Given the description of an element on the screen output the (x, y) to click on. 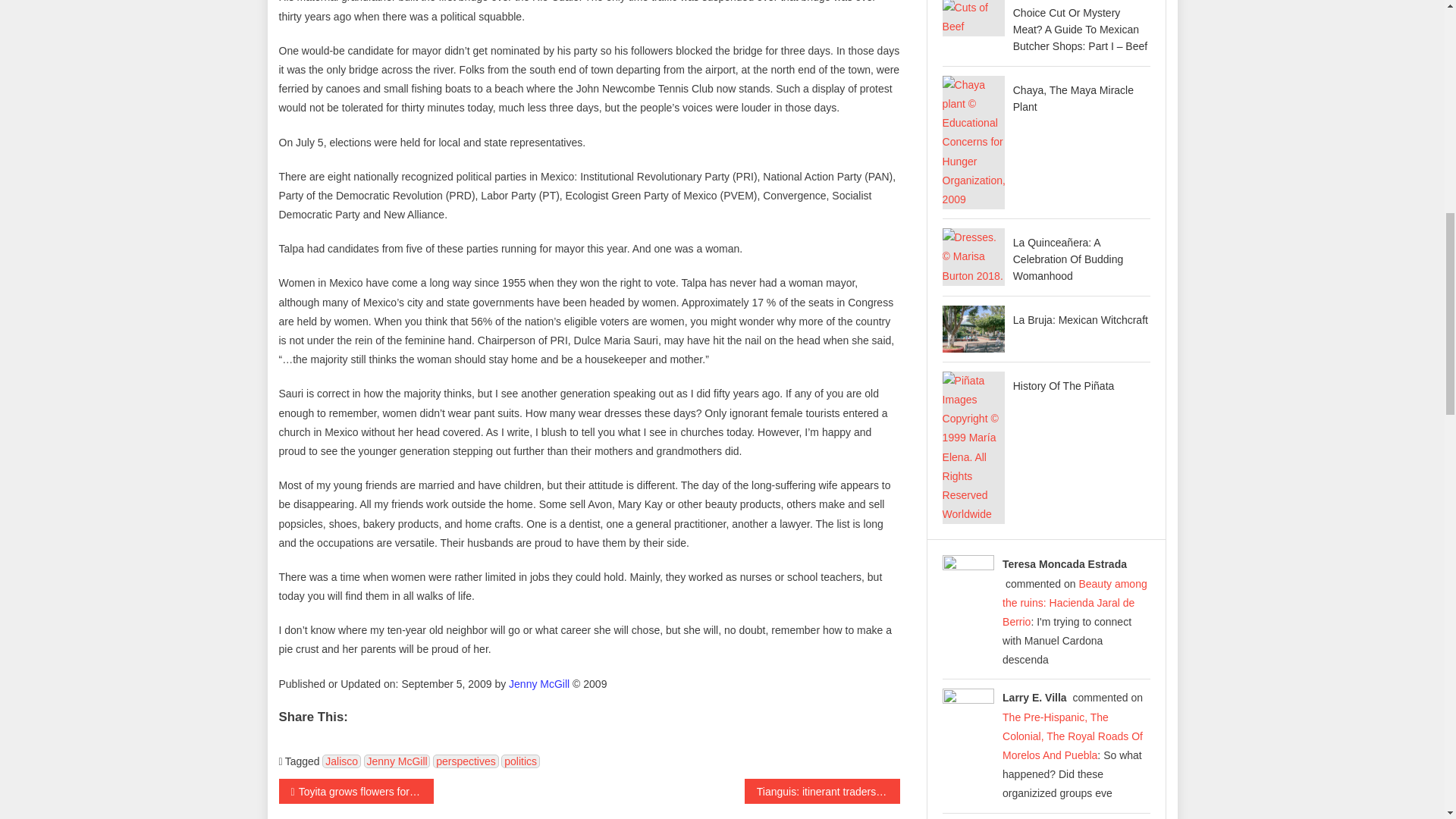
Beauty among the ruins: Hacienda Jaral de Berrio (1075, 603)
